Given the description of an element on the screen output the (x, y) to click on. 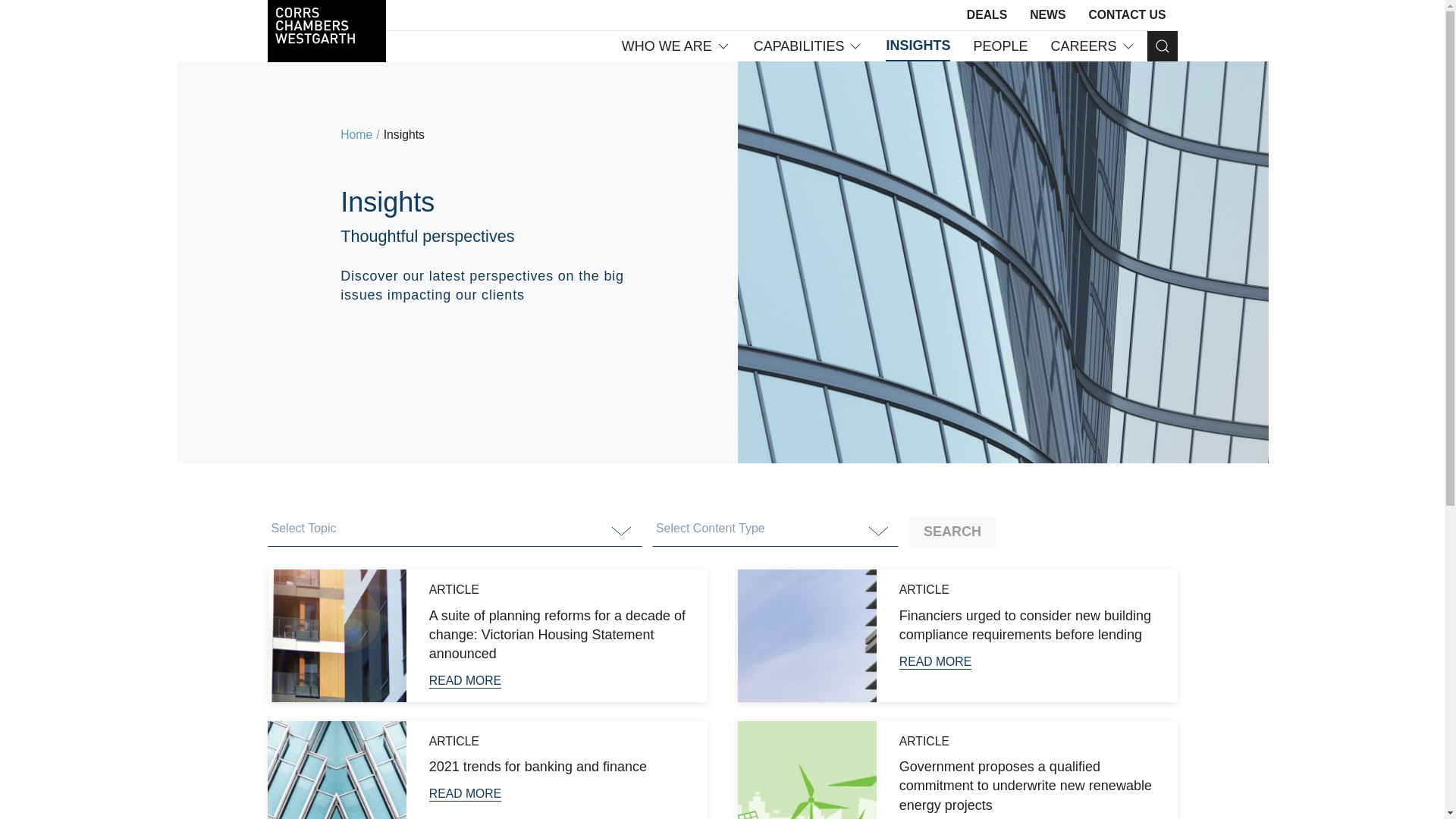
DEALS (986, 15)
WHO WE ARE (675, 46)
NEWS (1047, 15)
CAPABILITIES (808, 46)
CONTACT US (1126, 15)
